Given the description of an element on the screen output the (x, y) to click on. 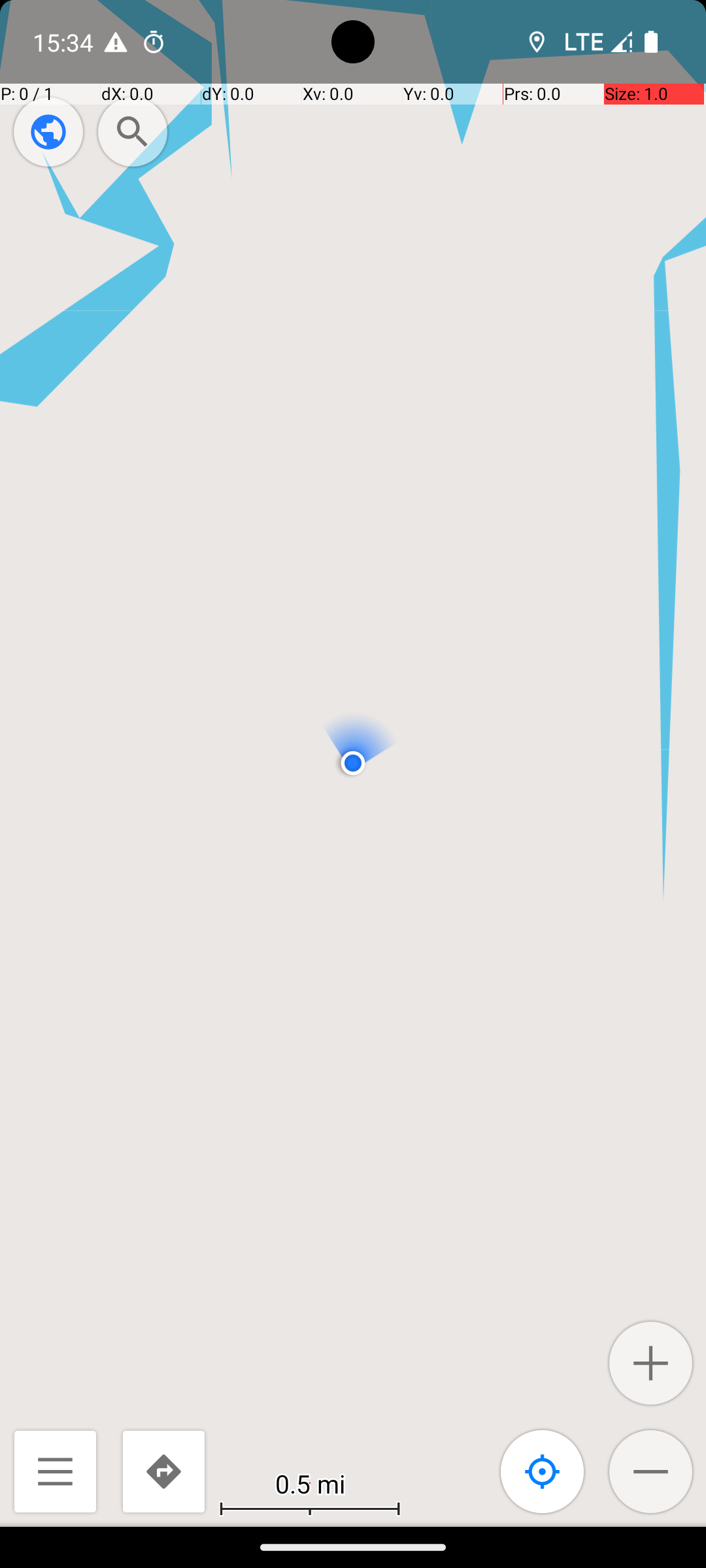
0.5 mi Element type: android.widget.TextView (309, 1483)
Map linked to location Element type: android.widget.ImageButton (542, 1471)
